Given the description of an element on the screen output the (x, y) to click on. 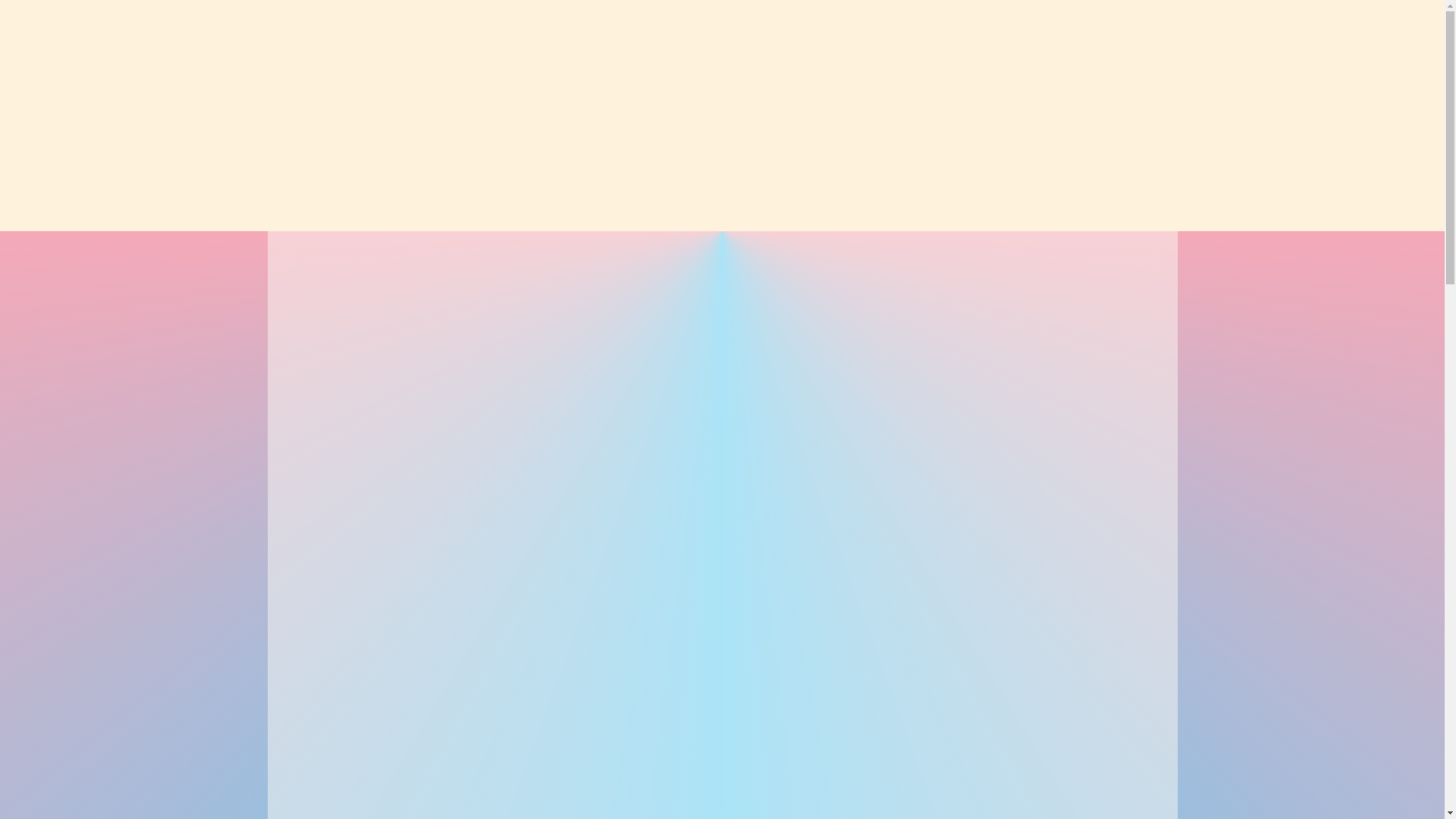
Logo GalPal Val (721, 94)
